Given the description of an element on the screen output the (x, y) to click on. 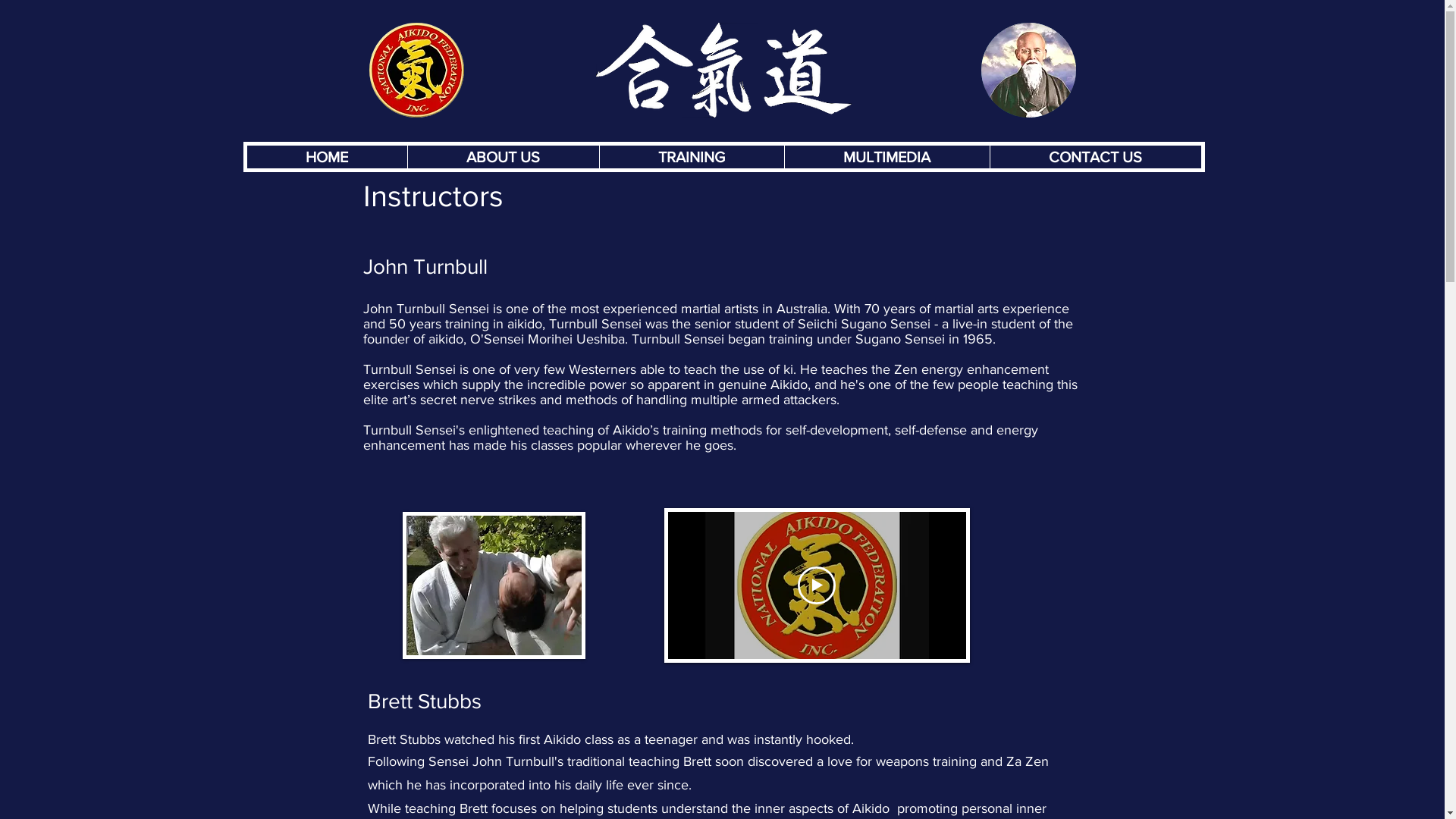
TRAINING Element type: text (691, 156)
MULTIMEDIA Element type: text (886, 156)
HOME Element type: text (327, 156)
CONTACT US Element type: text (1094, 156)
ABOUT US Element type: text (502, 156)
